Given the description of an element on the screen output the (x, y) to click on. 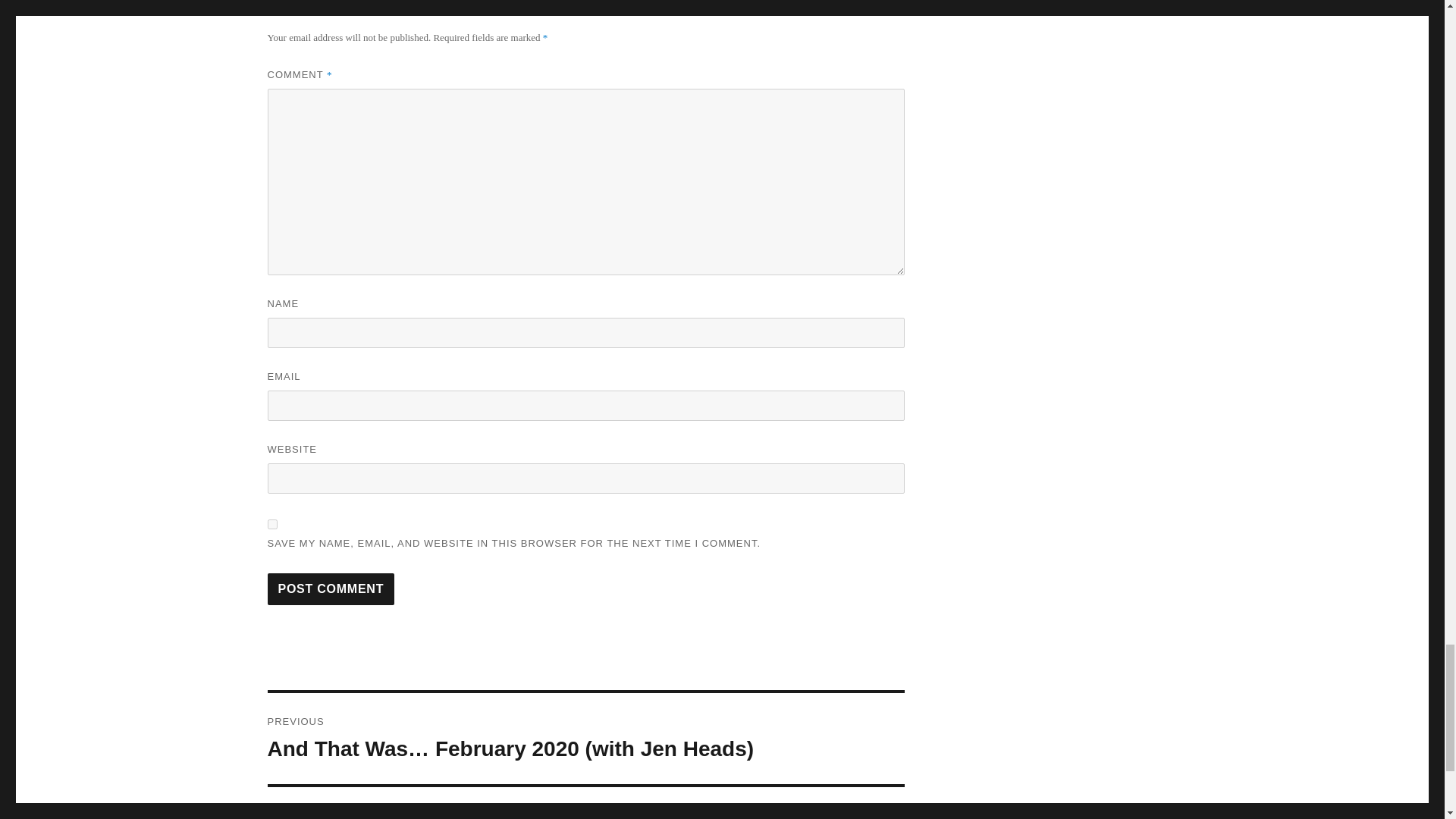
Post Comment (330, 589)
Post Comment (330, 589)
yes (271, 524)
